Given the description of an element on the screen output the (x, y) to click on. 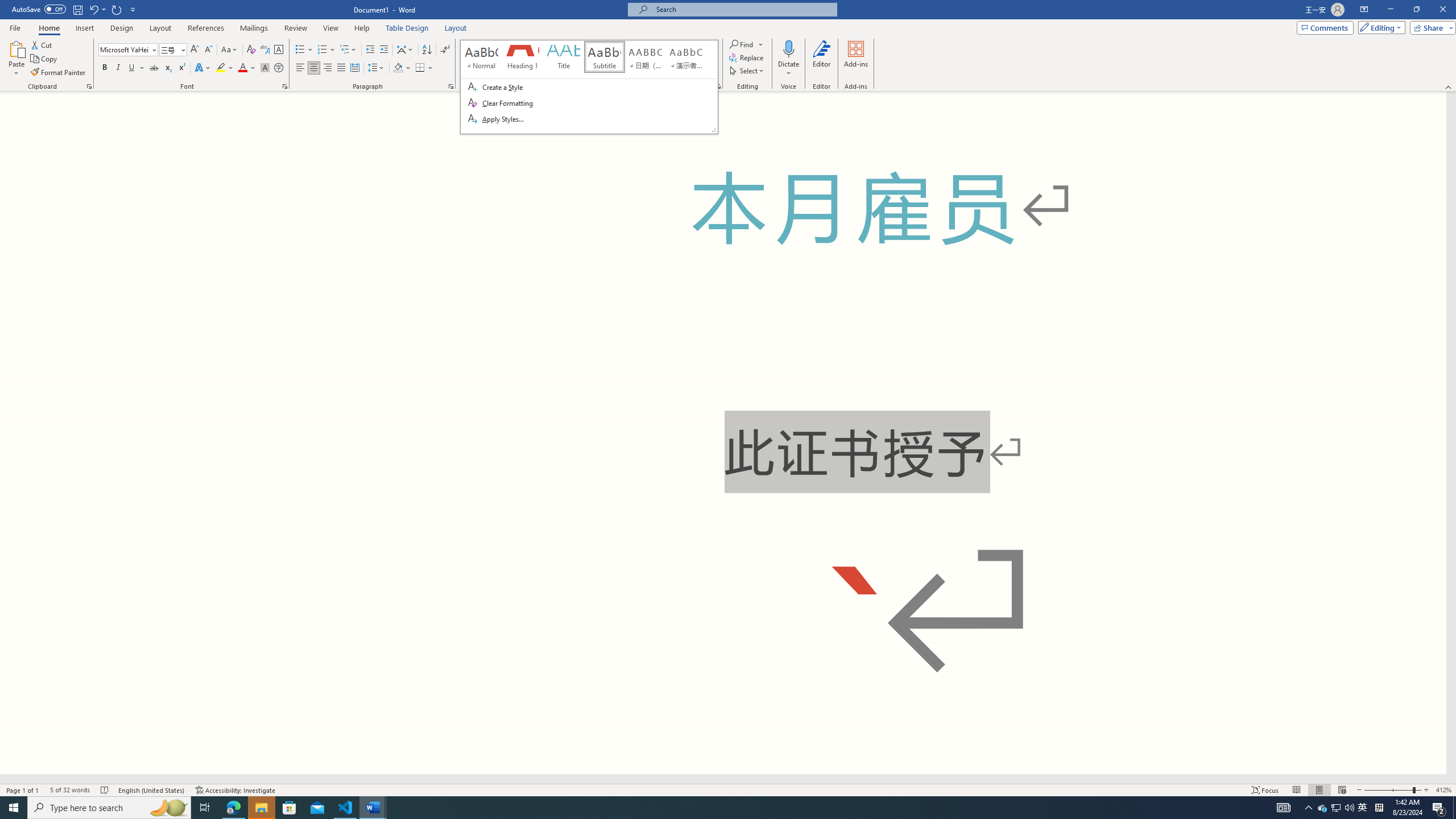
Tray Input Indicator - Chinese (Simplified, China) (1378, 807)
Microsoft Edge - 1 running window (233, 807)
